Given the description of an element on the screen output the (x, y) to click on. 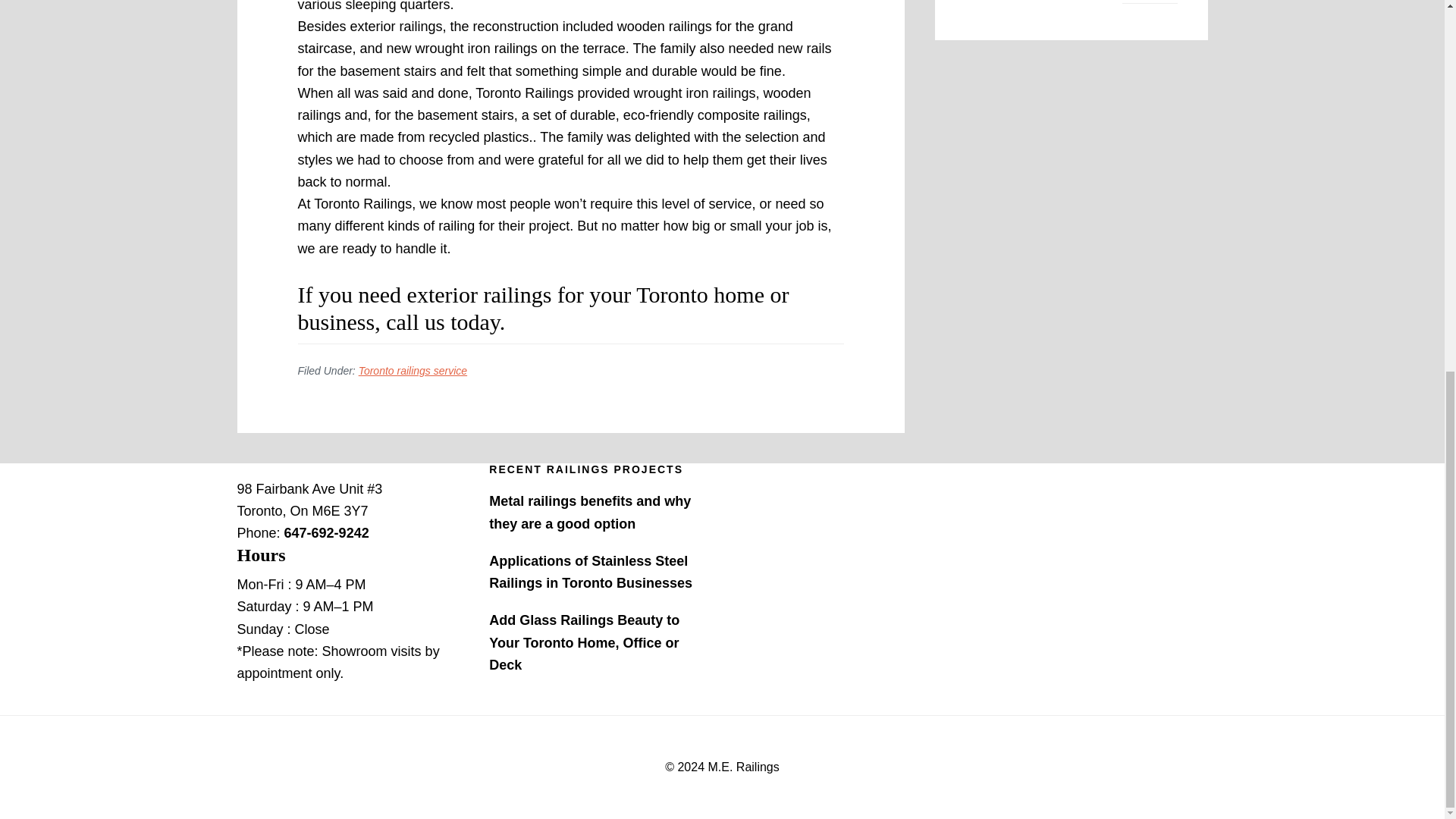
647-692-9242 (326, 532)
Metal railings benefits and why they are a good option (589, 511)
Toronto railings service (412, 370)
